Given the description of an element on the screen output the (x, y) to click on. 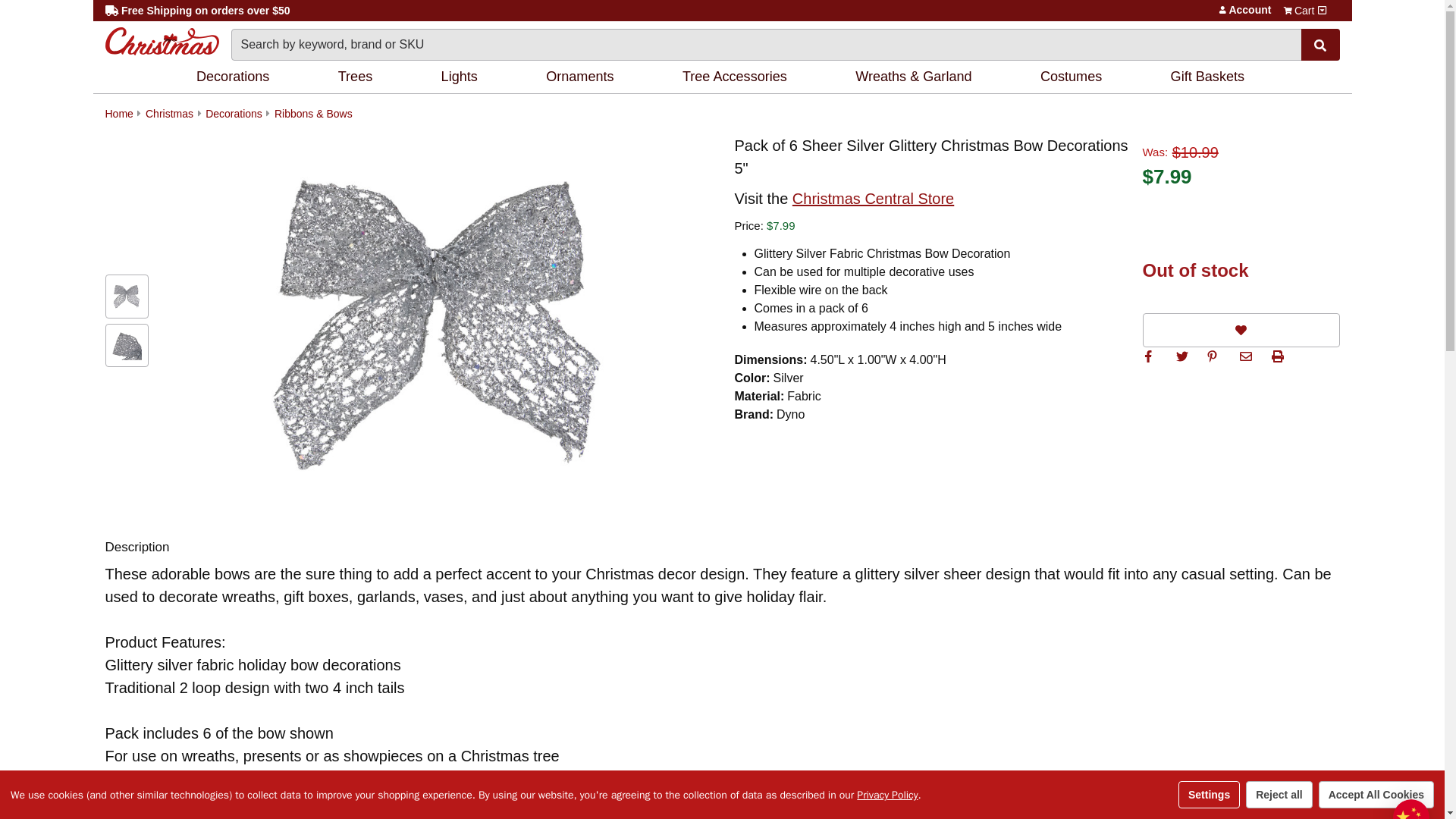
Decorations (234, 76)
Account (1222, 9)
Account (1222, 9)
